Given the description of an element on the screen output the (x, y) to click on. 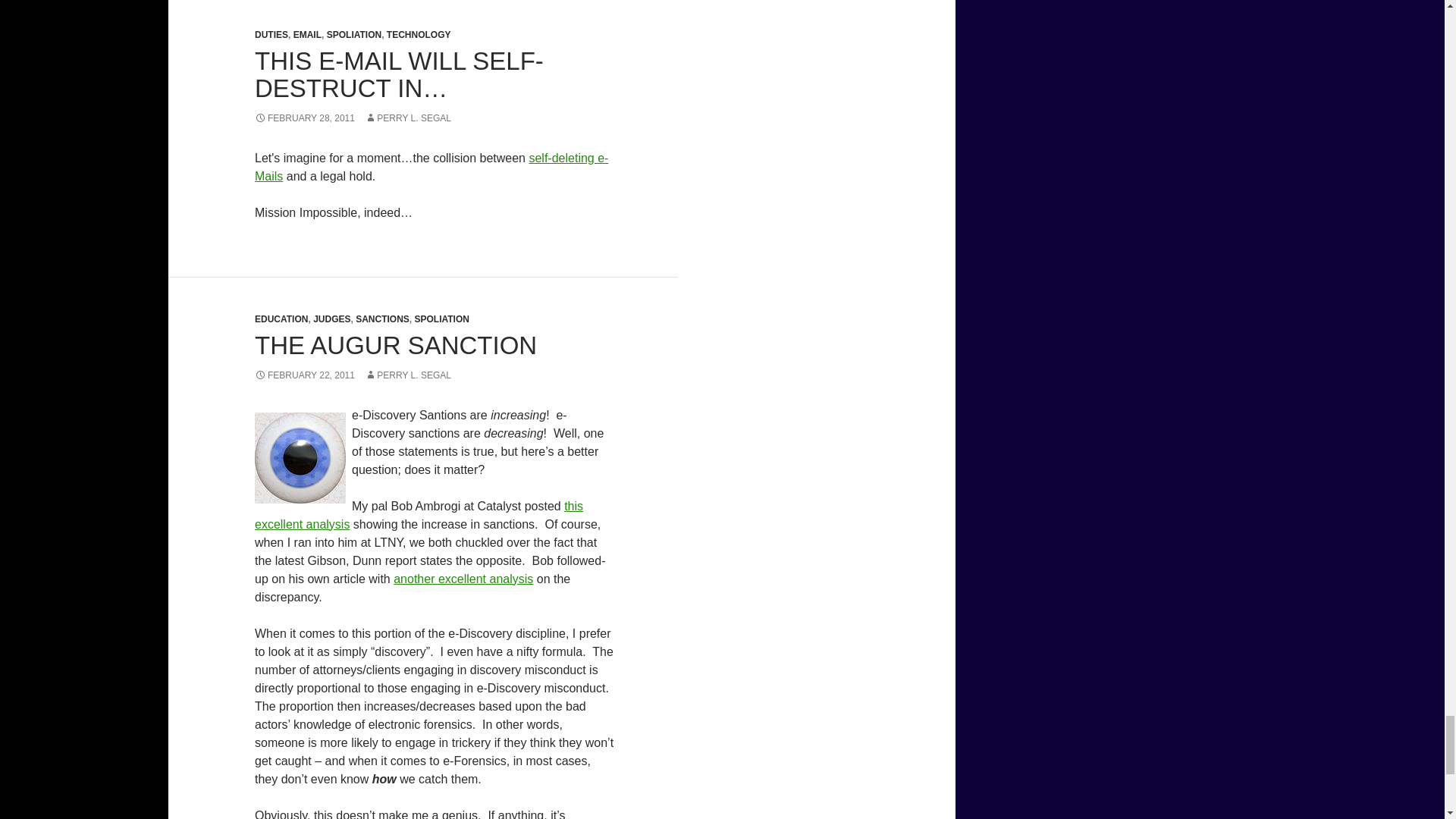
MP900442519 (300, 457)
